Given the description of an element on the screen output the (x, y) to click on. 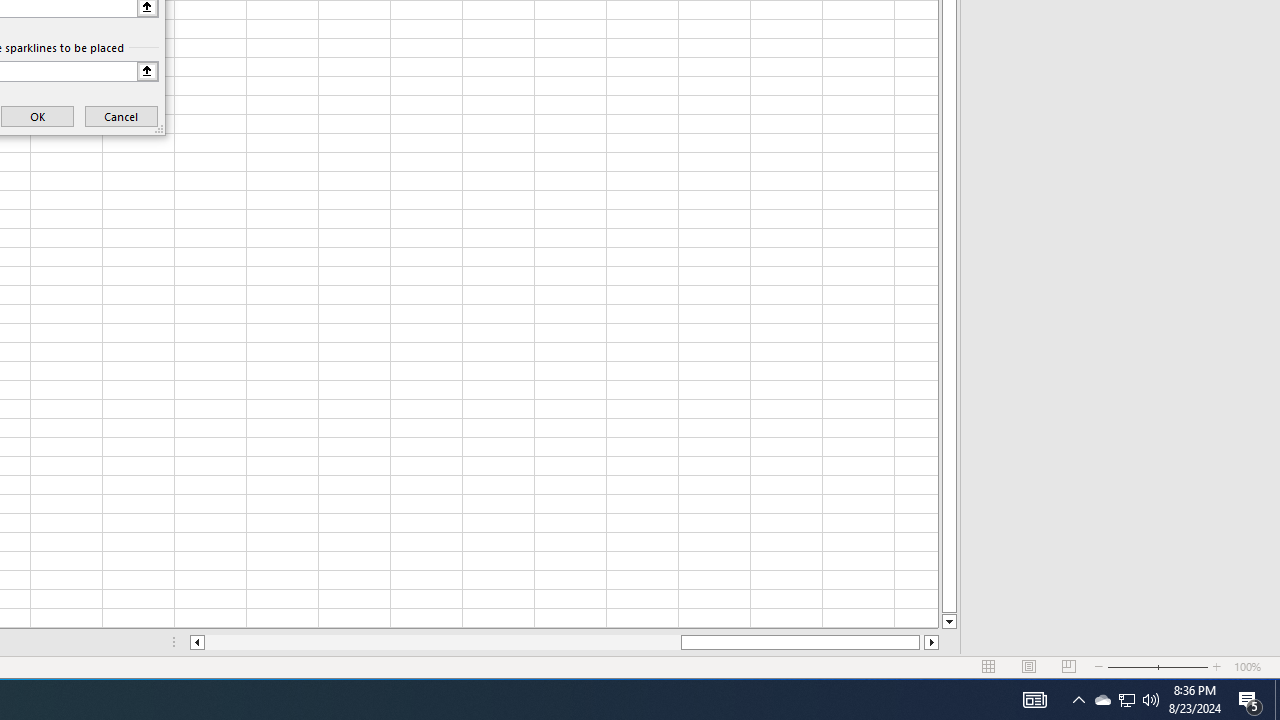
Page left (442, 642)
